Given the description of an element on the screen output the (x, y) to click on. 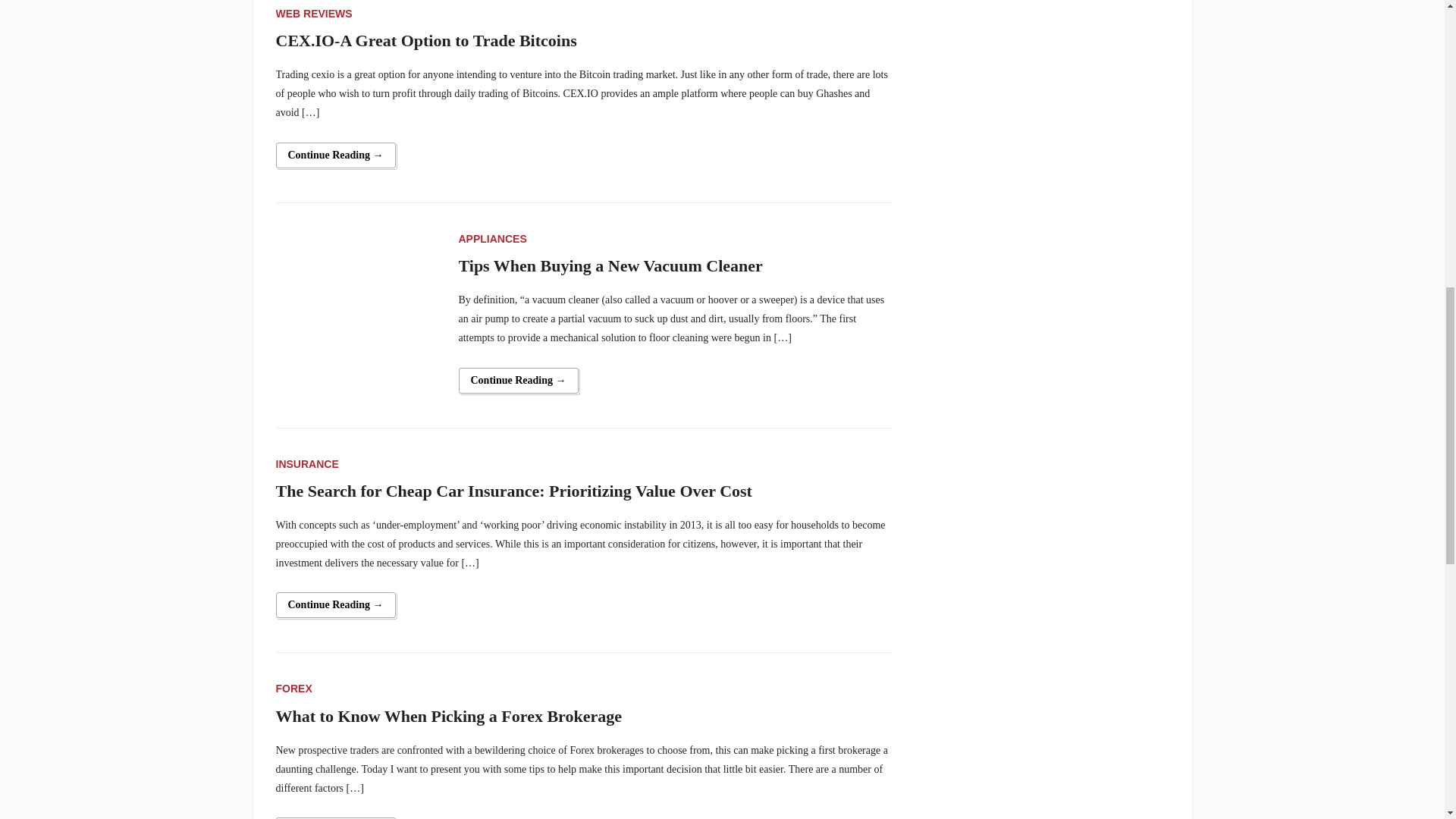
Permalink to What to Know When Picking a Forex Brokerage (336, 818)
Tips When Buying a New Vacuum Cleaner (357, 310)
Permalink to Tips When Buying a New Vacuum Cleaner (518, 380)
Permalink to CEX.IO-A Great Option to Trade Bitcoins (336, 155)
